Given the description of an element on the screen output the (x, y) to click on. 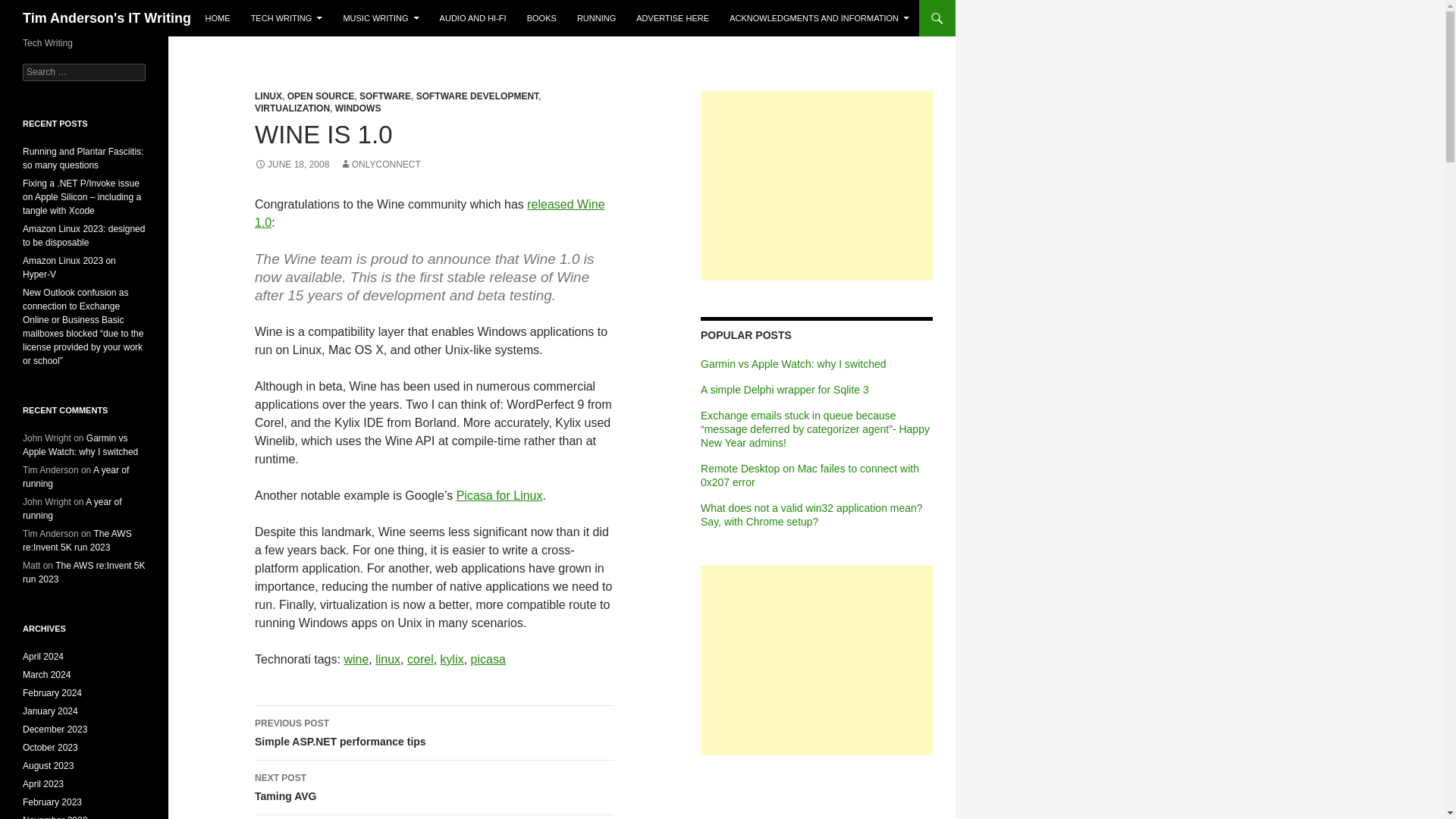
BOOKS (542, 18)
VIRTUALIZATION (292, 108)
JUNE 18, 2008 (291, 163)
WINDOWS (357, 108)
Advertisement (816, 660)
ACKNOWLEDGMENTS AND INFORMATION (819, 18)
picasa (487, 658)
TECH WRITING (286, 18)
LINUX (268, 95)
Garmin vs Apple Watch: why I switched (793, 363)
MUSIC WRITING (380, 18)
SOFTWARE (384, 95)
released Wine 1.0 (429, 213)
ONLYCONNECT (379, 163)
SOFTWARE DEVELOPMENT (477, 95)
